Given the description of an element on the screen output the (x, y) to click on. 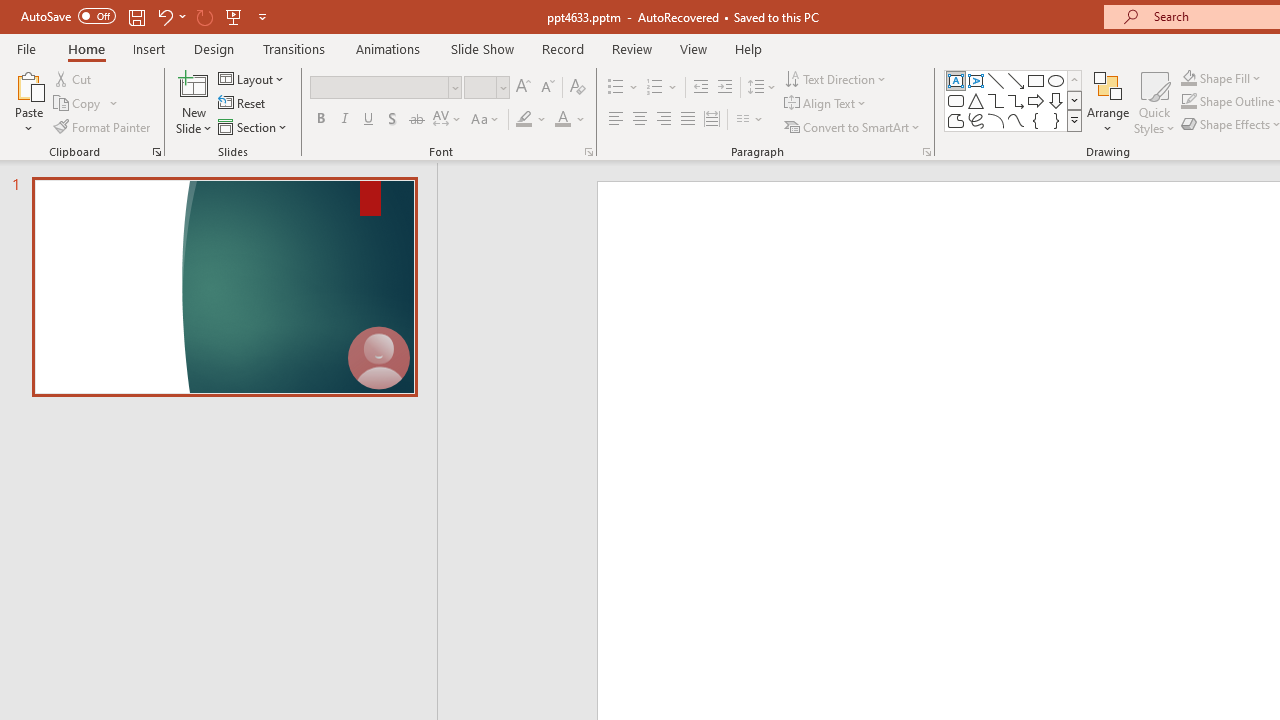
Shape Outline Dark Red, Accent 1 (1188, 101)
